Given the description of an element on the screen output the (x, y) to click on. 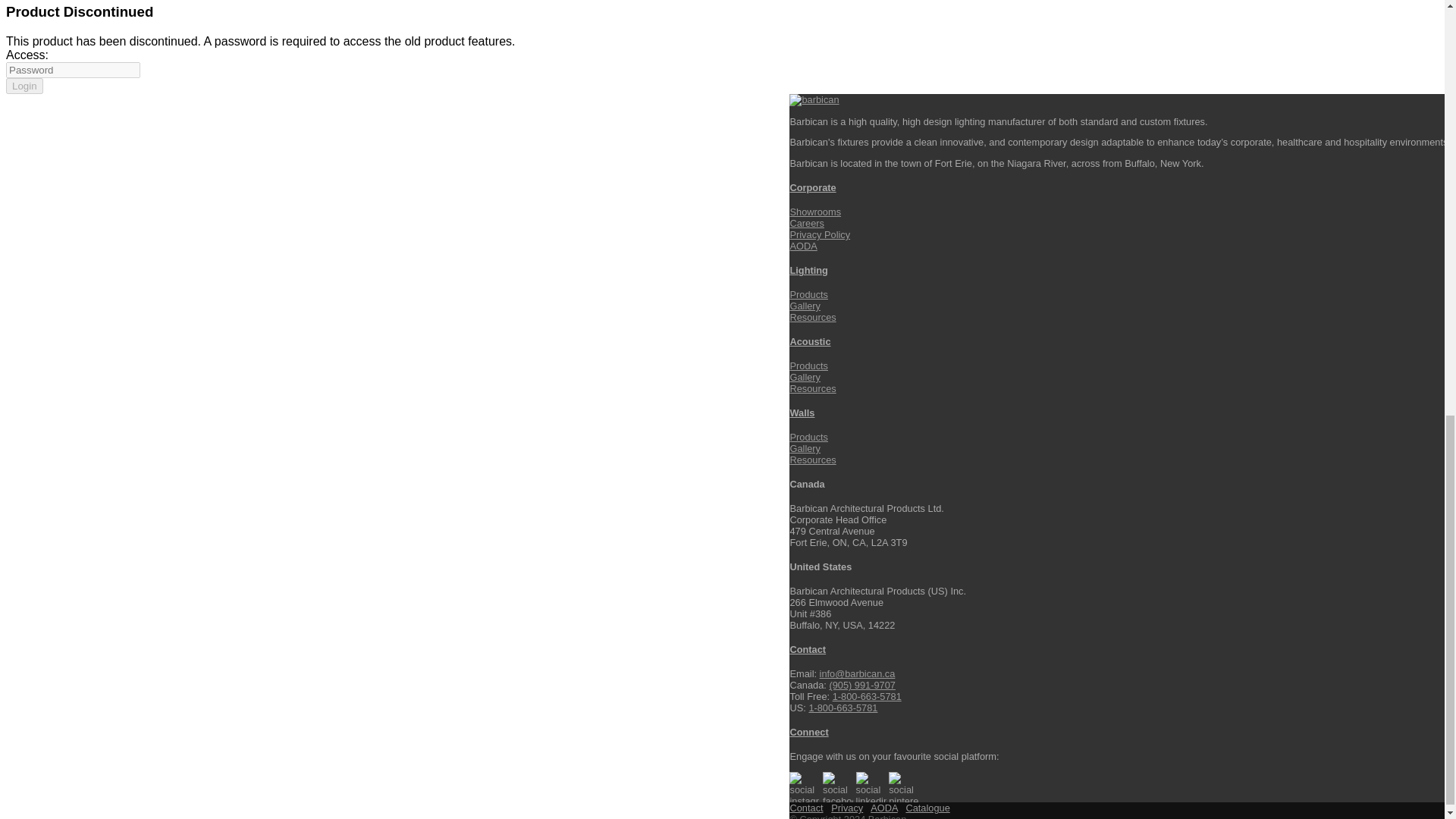
Lighting (808, 270)
Privacy Policy (819, 234)
Showrooms (815, 211)
Login (24, 85)
Careers (806, 223)
Products (808, 294)
Corporate (812, 187)
Resources (812, 317)
Login (24, 85)
Gallery (805, 306)
AODA (802, 245)
